Given the description of an element on the screen output the (x, y) to click on. 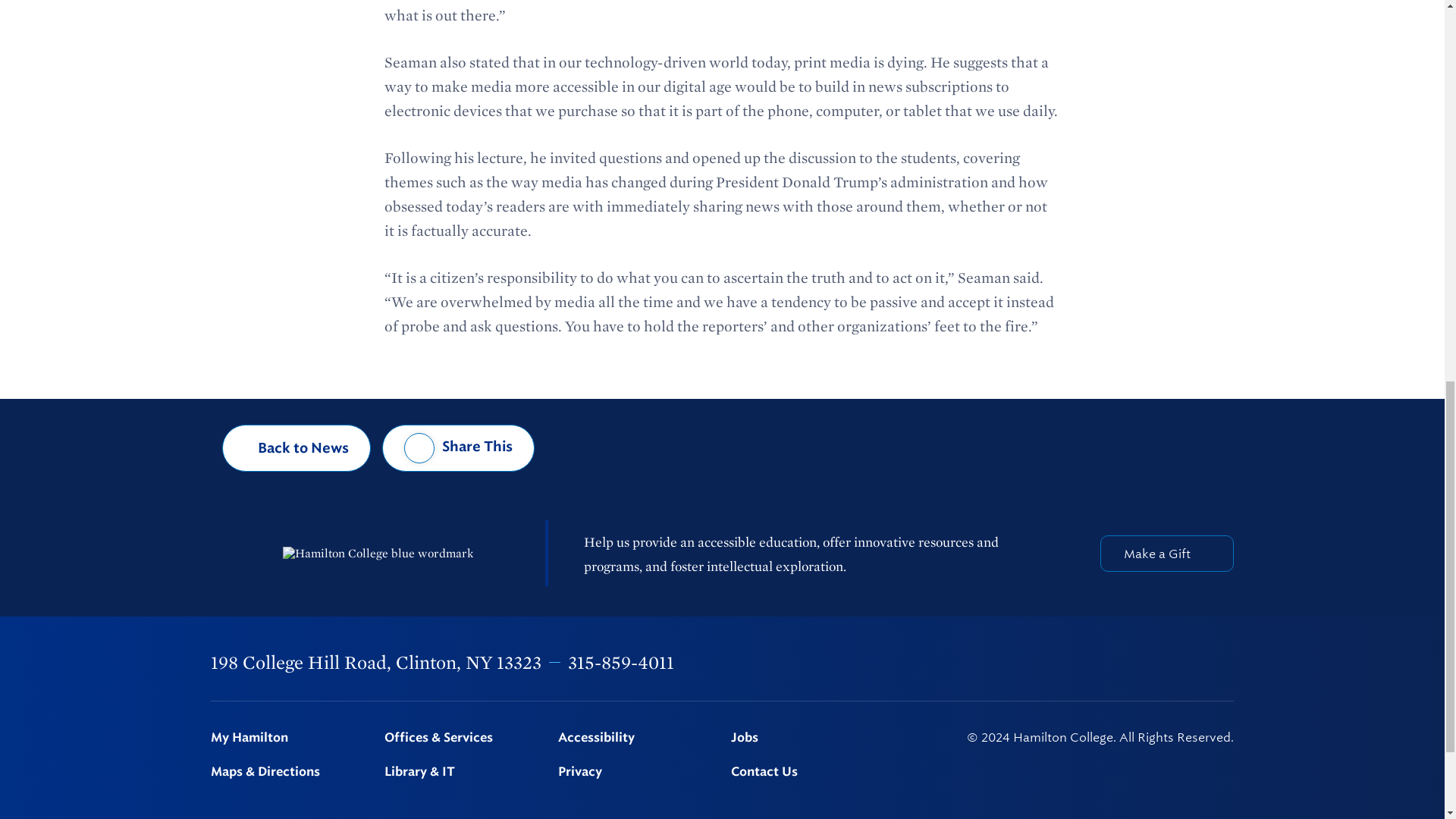
Youtube (1188, 662)
Facebook (1029, 662)
Back to News (296, 448)
Make a Gift (1166, 553)
Linkedin (1149, 662)
Twitter (1069, 662)
My Hamilton (288, 738)
Instagram (1109, 662)
TikTok (1226, 662)
198 College Hill Road, Clinton, NY 13323 (375, 662)
315-859-4011 (620, 662)
Share This (457, 448)
Accessibility (635, 738)
